Given the description of an element on the screen output the (x, y) to click on. 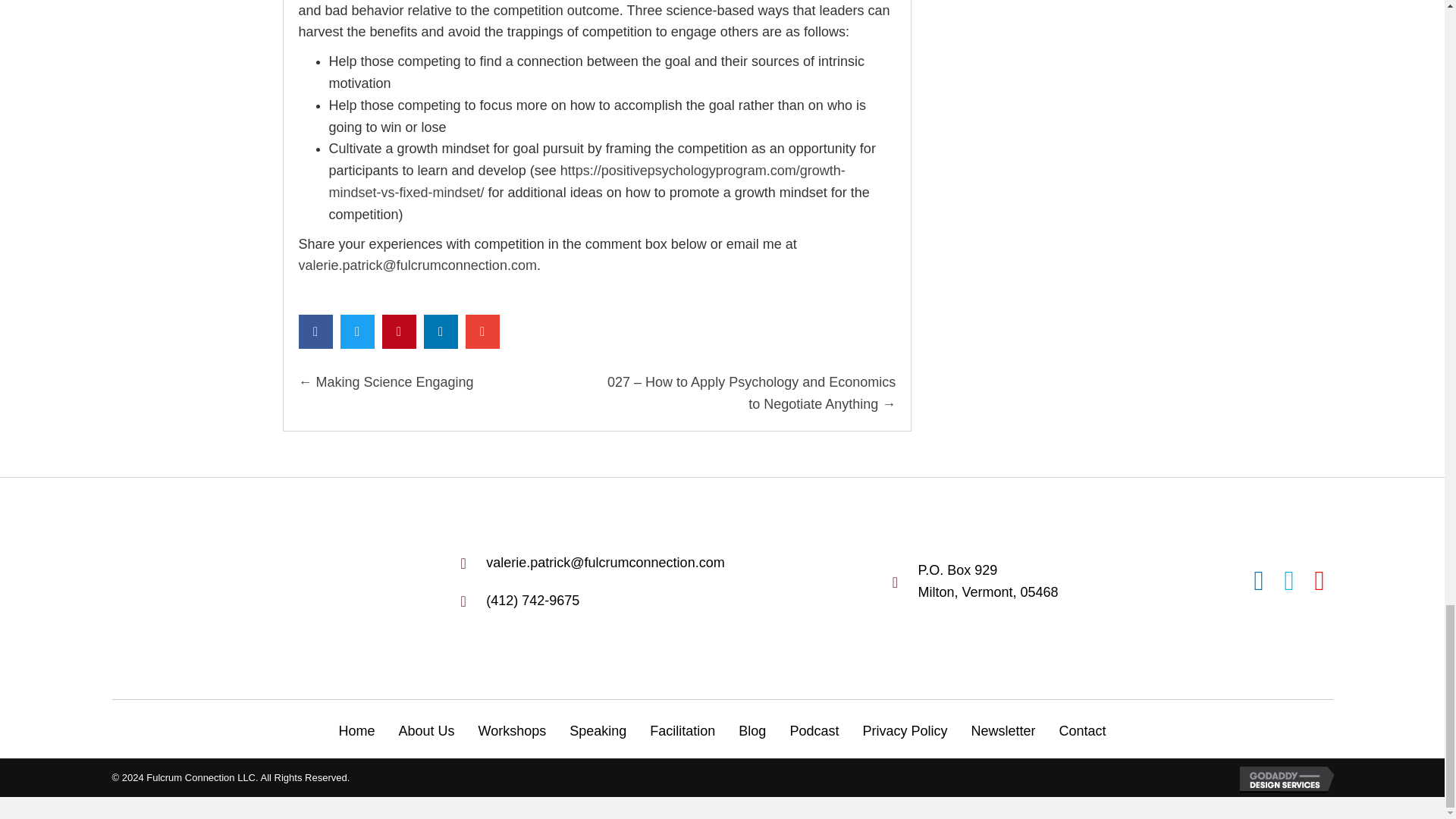
FC-Primary-TransparentBackground (210, 581)
